Given the description of an element on the screen output the (x, y) to click on. 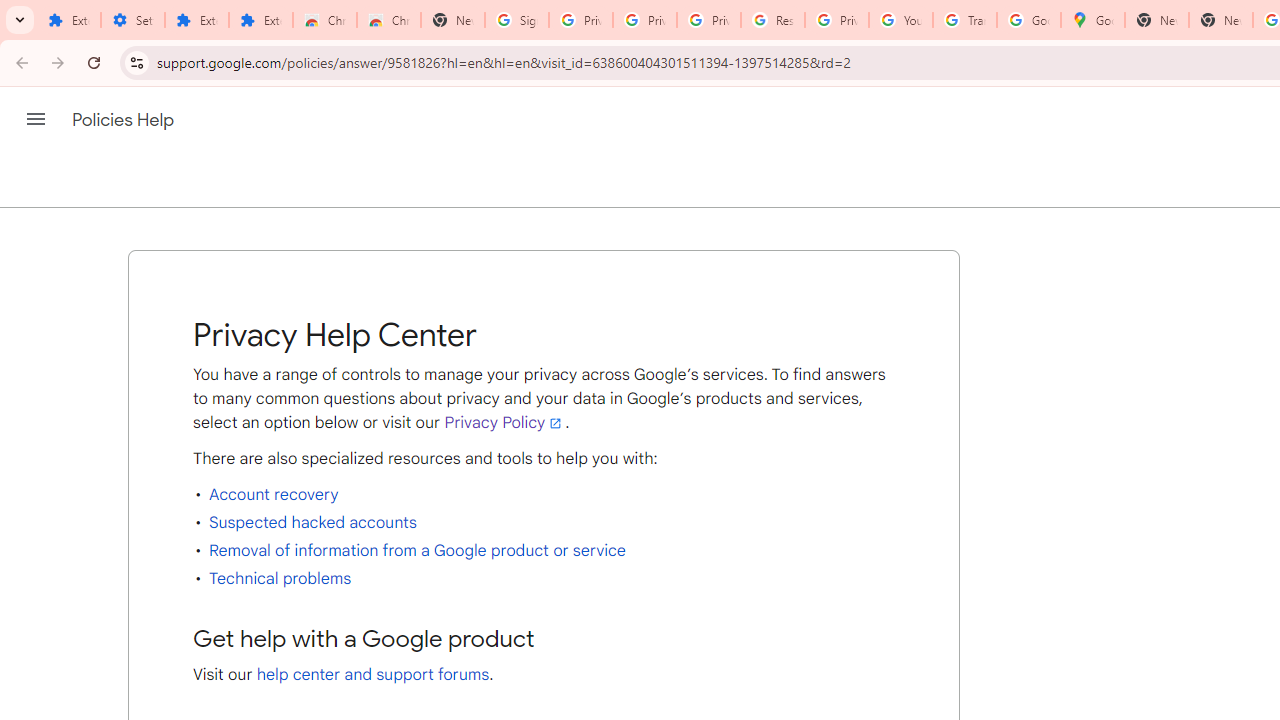
Google Maps (1093, 20)
Sign in - Google Accounts (517, 20)
help center and support forums (373, 674)
Removal of information from a Google product or service (416, 550)
Settings (133, 20)
Suspected hacked accounts (312, 522)
Main menu (35, 119)
Policies Help (124, 119)
Chrome Web Store (325, 20)
